Given the description of an element on the screen output the (x, y) to click on. 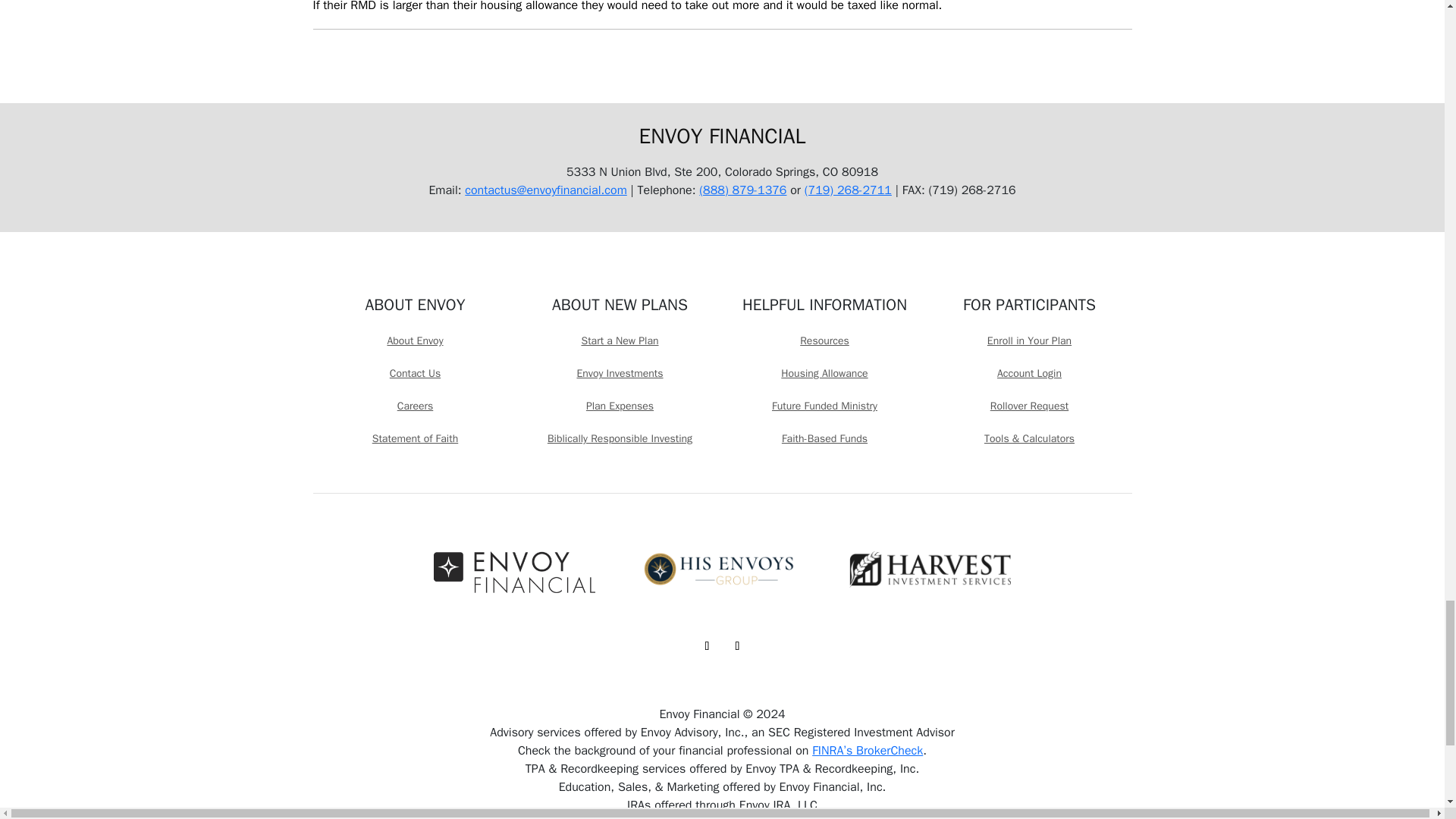
Follow on Facebook (706, 645)
ef-greyscale-box (514, 571)
Follow on Instagram (737, 645)
harvest-greyscale-compressed (929, 569)
About Envoy (413, 341)
